Given the description of an element on the screen output the (x, y) to click on. 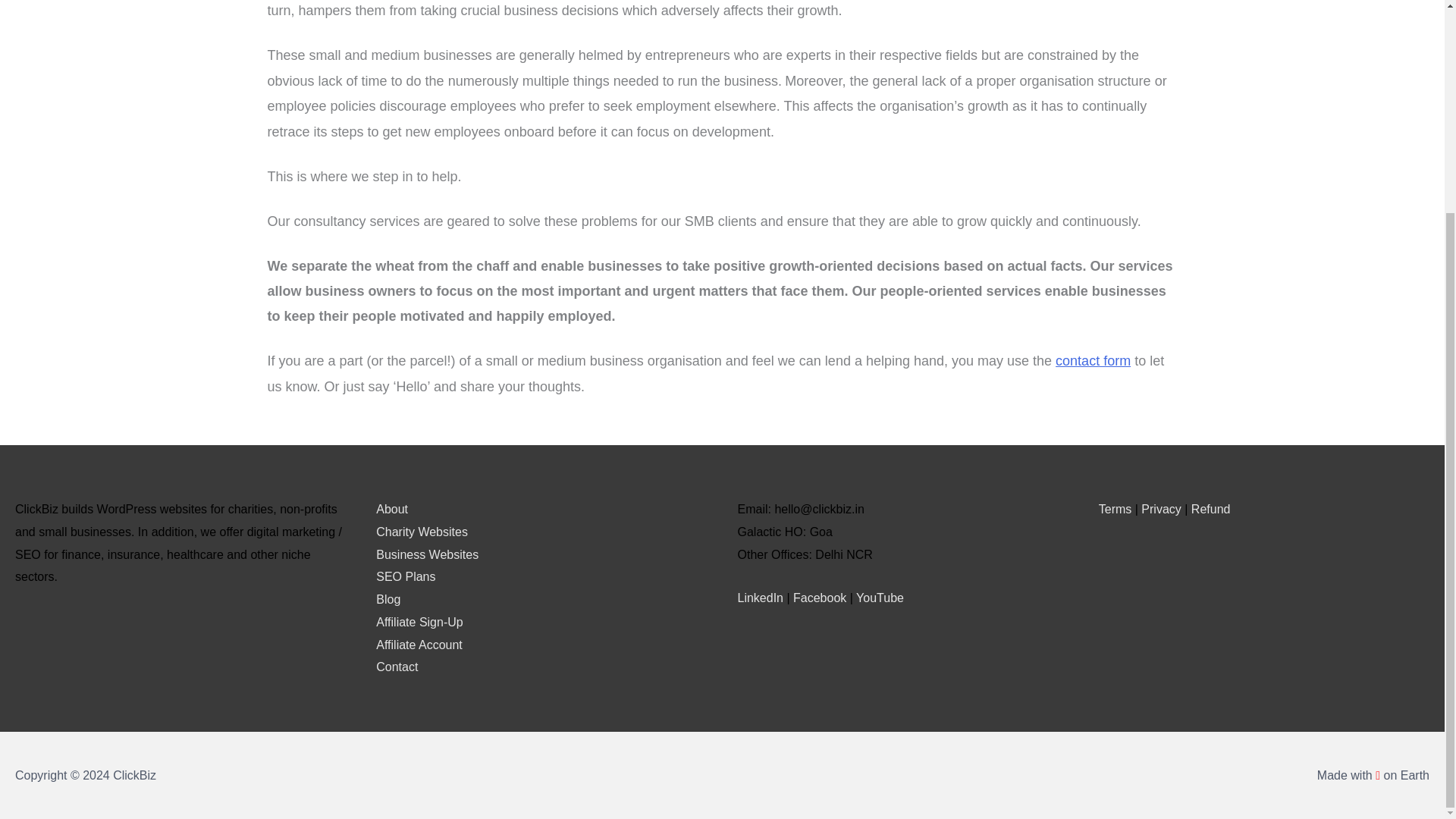
contact form (1093, 360)
Affiliate Sign-Up (419, 621)
YouTube (880, 597)
Blog (387, 599)
Privacy (1160, 508)
Refund (1210, 508)
Business Websites (427, 554)
SEO Plans (405, 576)
Charity Websites (421, 531)
About (391, 508)
